Given the description of an element on the screen output the (x, y) to click on. 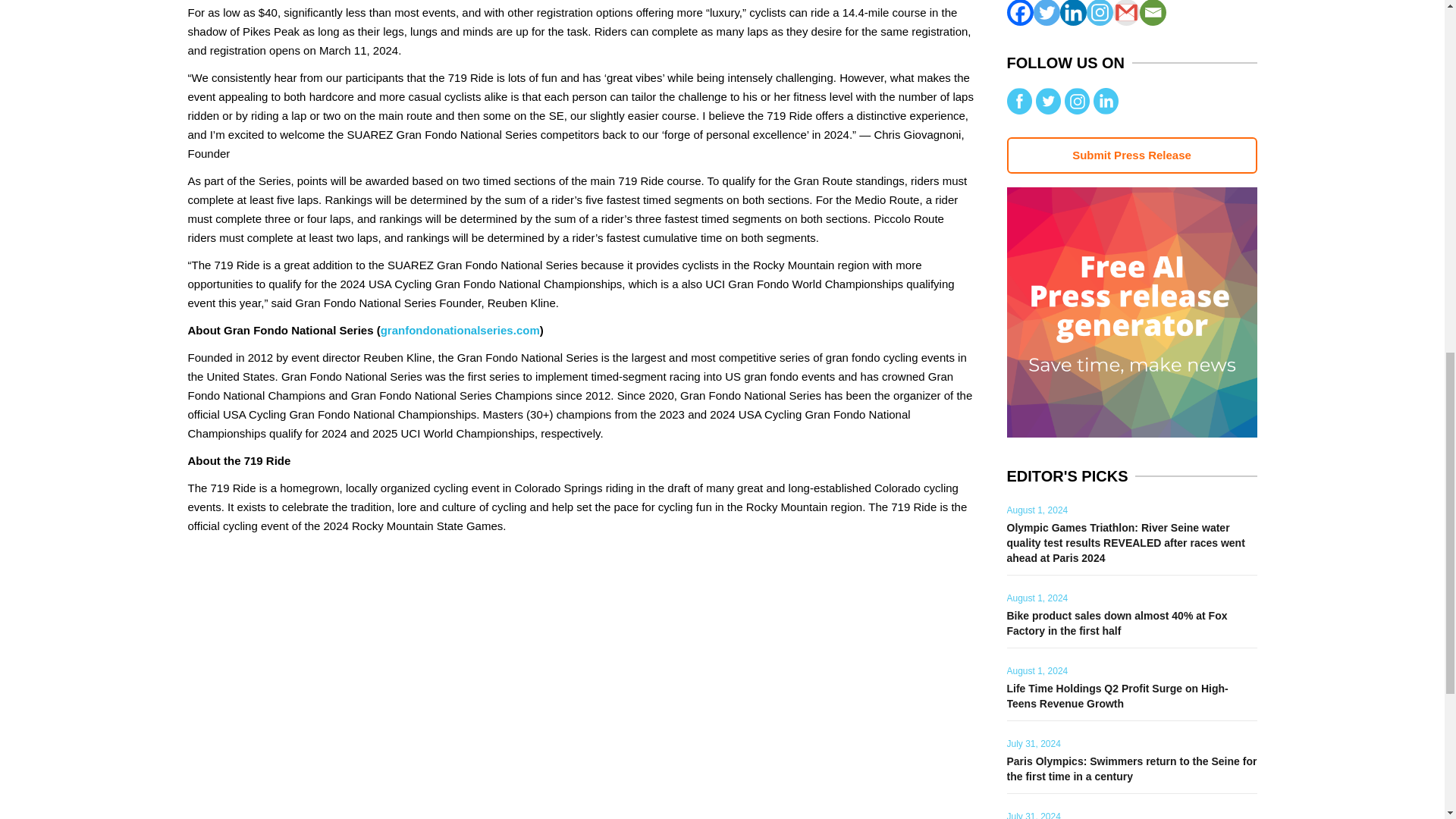
Email (1152, 12)
Google Gmail (1126, 12)
Instagram (1099, 12)
Facebook (1020, 12)
Twitter (1045, 12)
Linkedin (1072, 12)
